Given the description of an element on the screen output the (x, y) to click on. 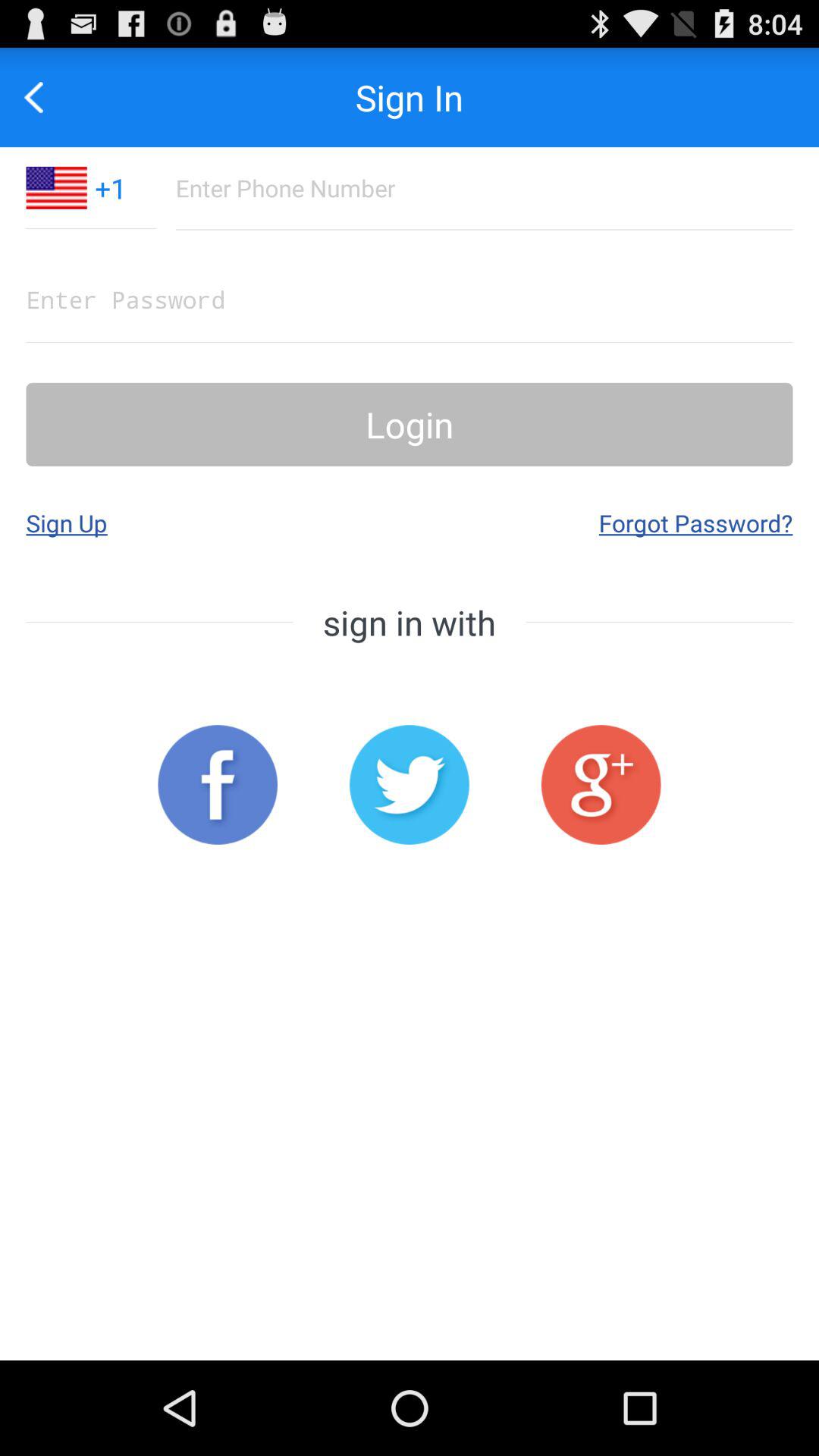
scroll to forgot password? app (695, 522)
